Given the description of an element on the screen output the (x, y) to click on. 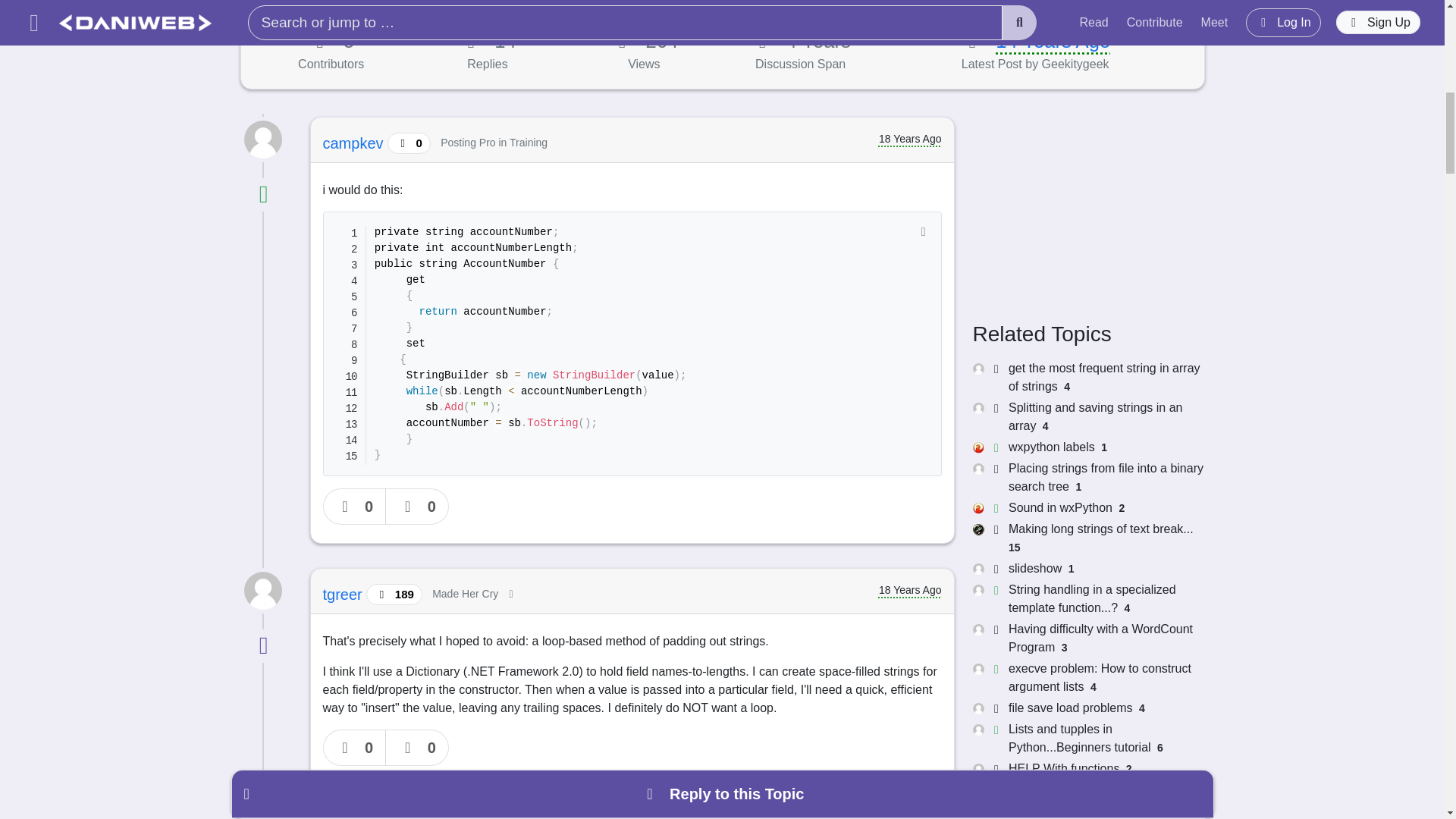
14 Years Ago (1052, 40)
campkev (355, 143)
0 (355, 747)
tgreer (344, 594)
0 (416, 747)
0 (416, 506)
0 (355, 506)
